Given the description of an element on the screen output the (x, y) to click on. 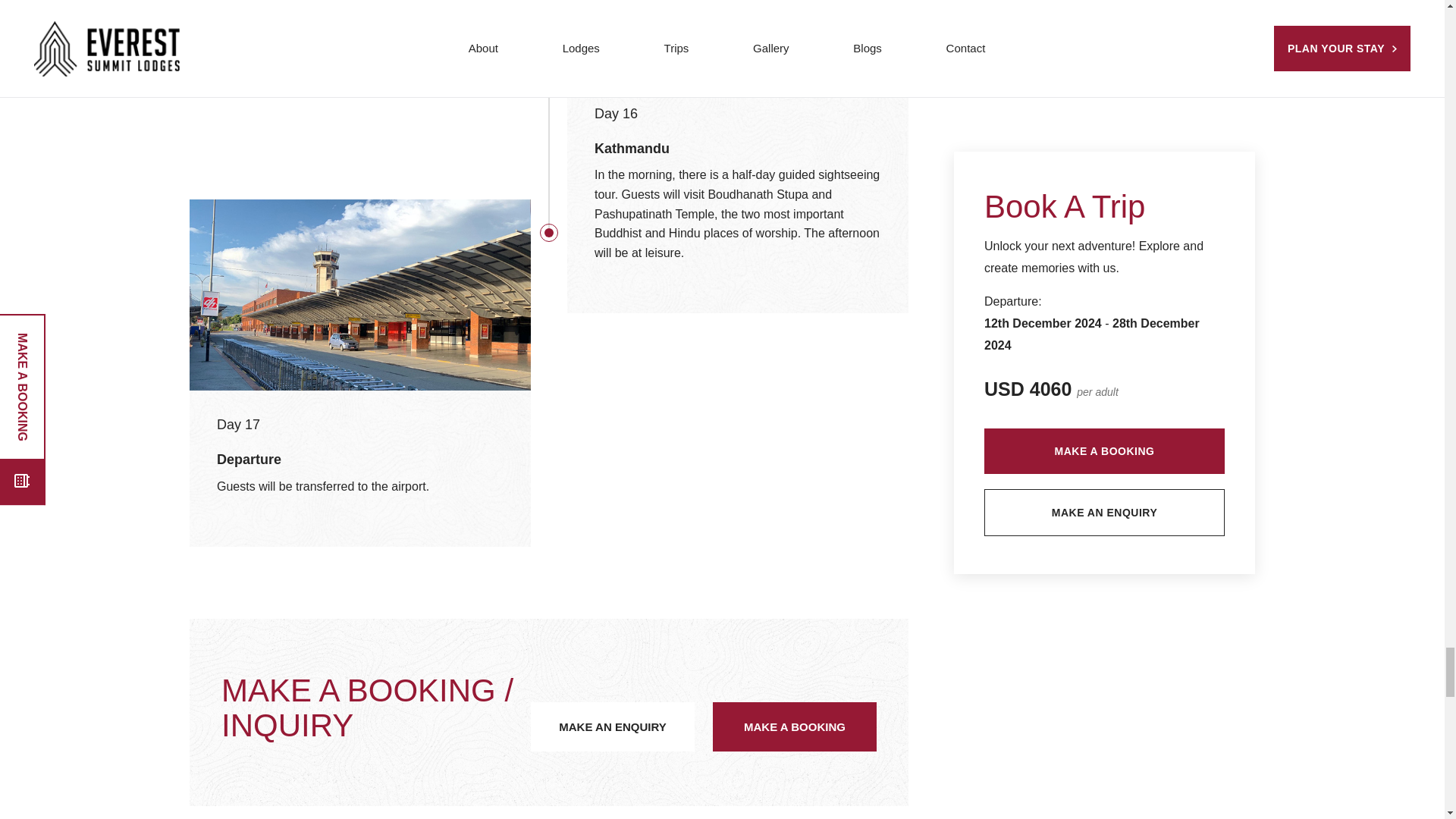
MAKE AN ENQUIRY (612, 726)
MAKE A BOOKING (794, 726)
